Given the description of an element on the screen output the (x, y) to click on. 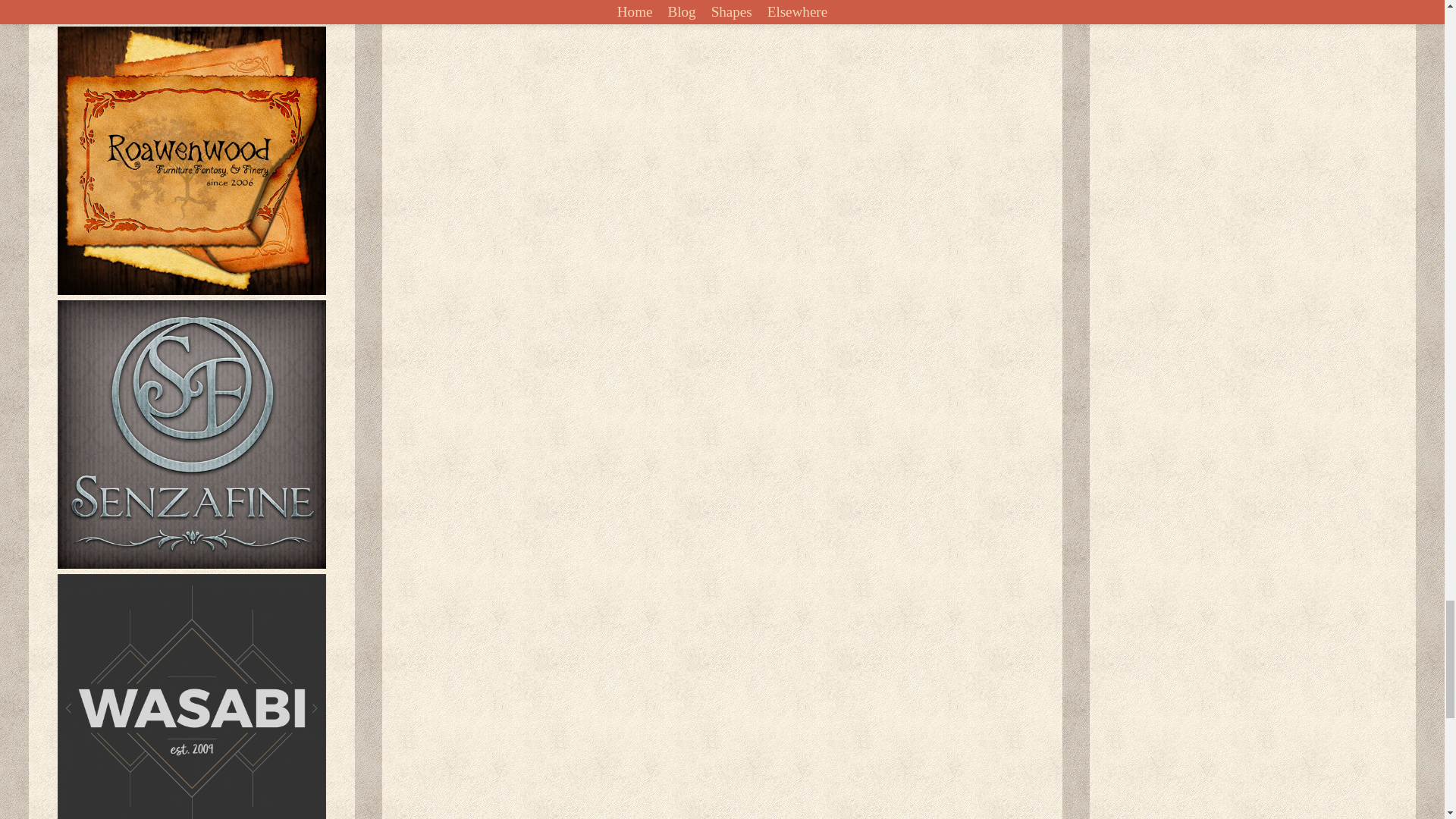
Senzafine (192, 434)
Wasabi (192, 696)
Roawenwood (192, 160)
Luxuria (192, 10)
